Given the description of an element on the screen output the (x, y) to click on. 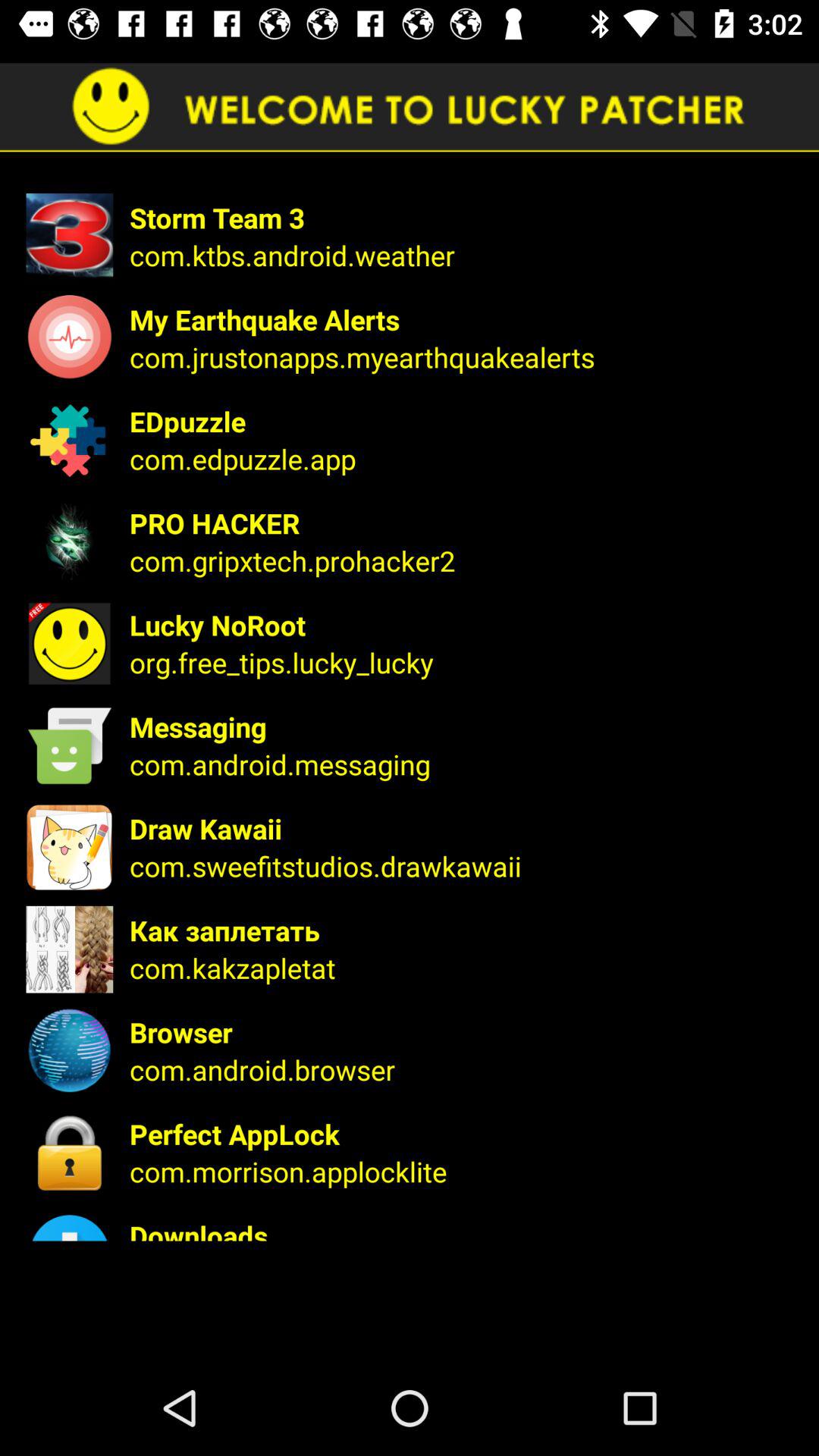
flip to pro hacker app (464, 523)
